Given the description of an element on the screen output the (x, y) to click on. 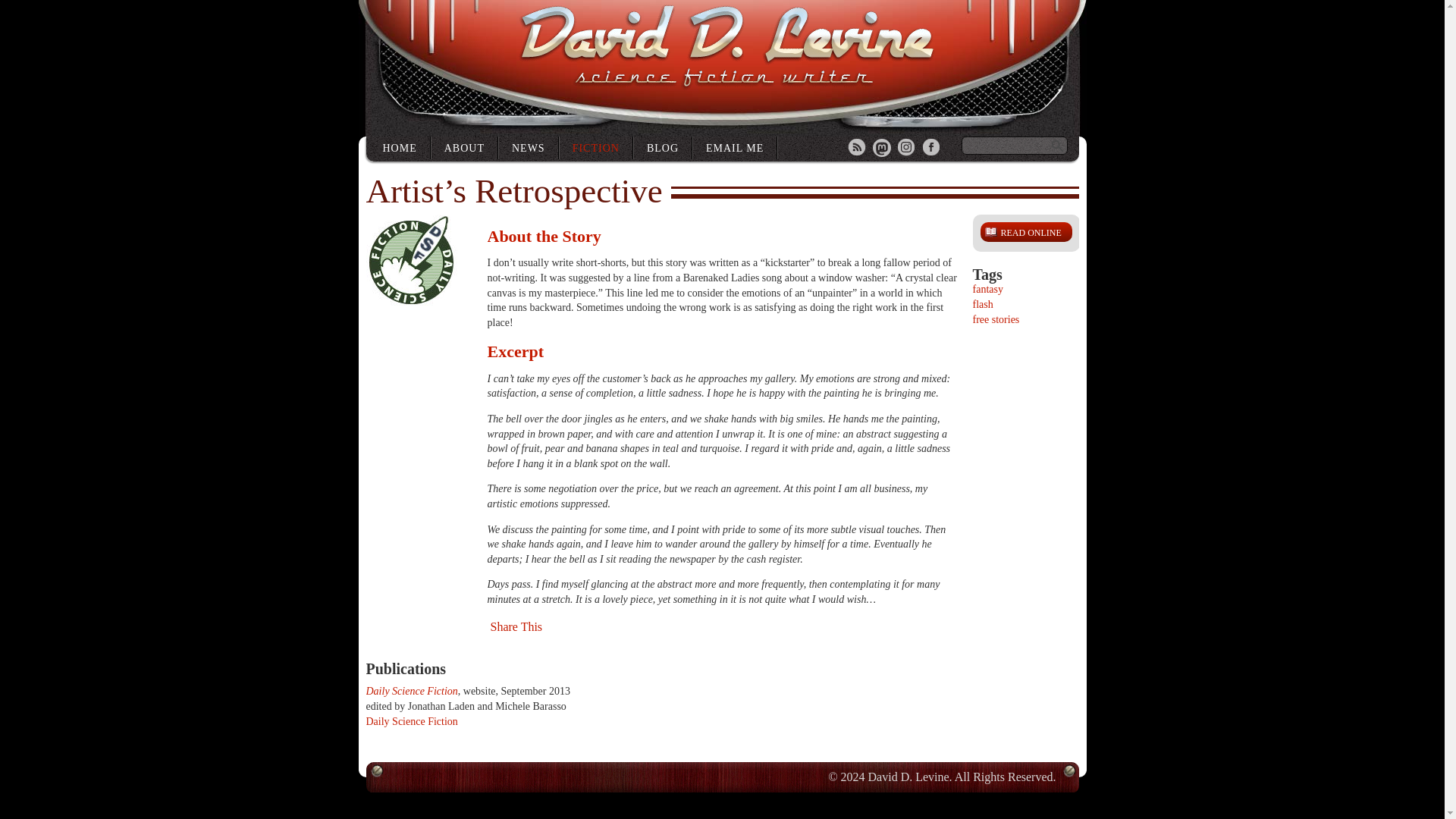
fantasy (987, 288)
Mastodon (881, 148)
BLOG (663, 147)
Search (1056, 145)
EMAIL ME (735, 147)
Search (1056, 145)
READ ONLINE (1025, 231)
story (596, 147)
FICTION (596, 147)
Daily Science Fiction (411, 690)
David D. LevineScience Fiction Author (725, 47)
HOME (399, 147)
RSS (857, 148)
flash (982, 304)
free stories (995, 319)
